Given the description of an element on the screen output the (x, y) to click on. 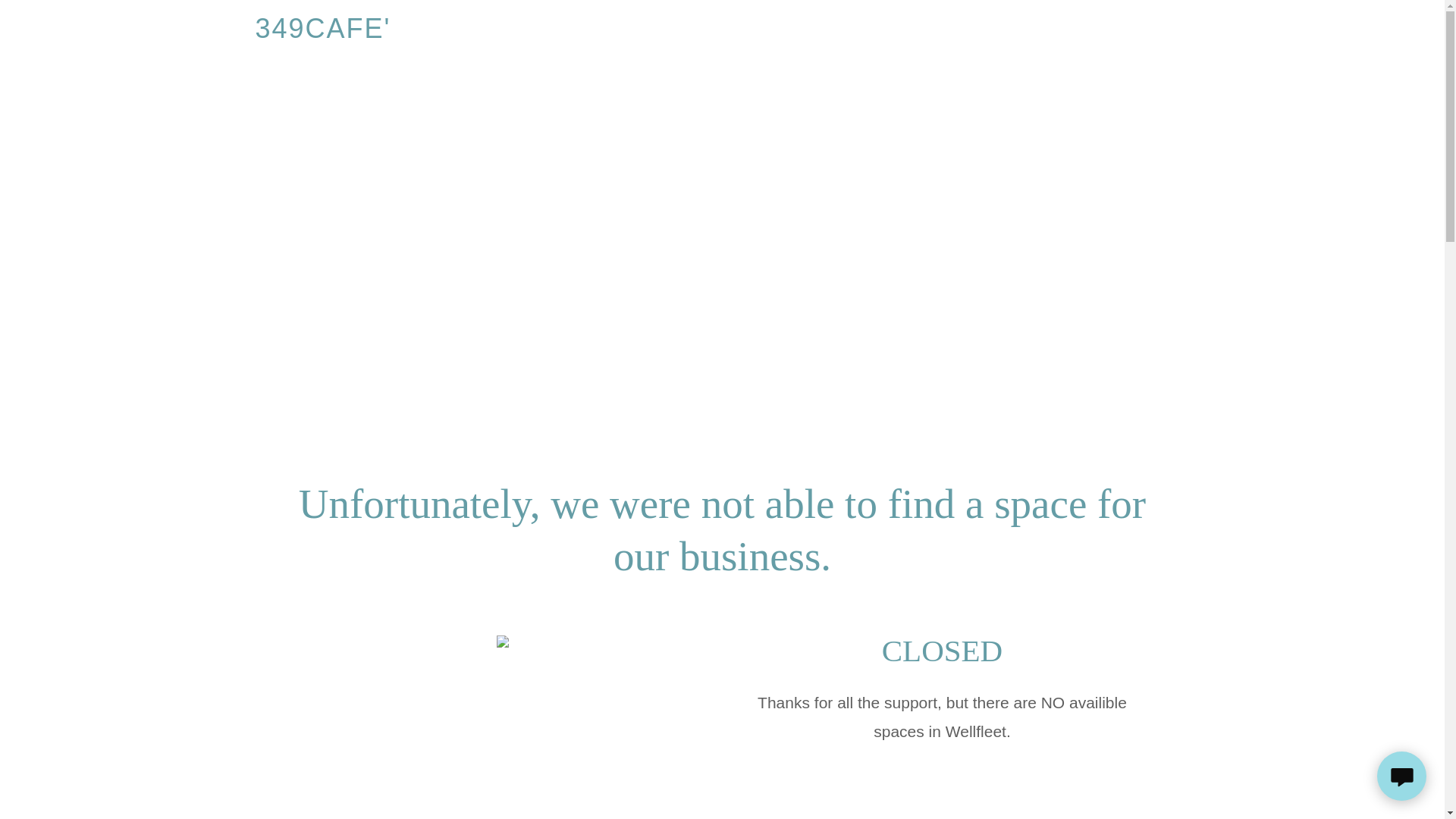
349CAFE' Element type: text (417, 31)
